Given the description of an element on the screen output the (x, y) to click on. 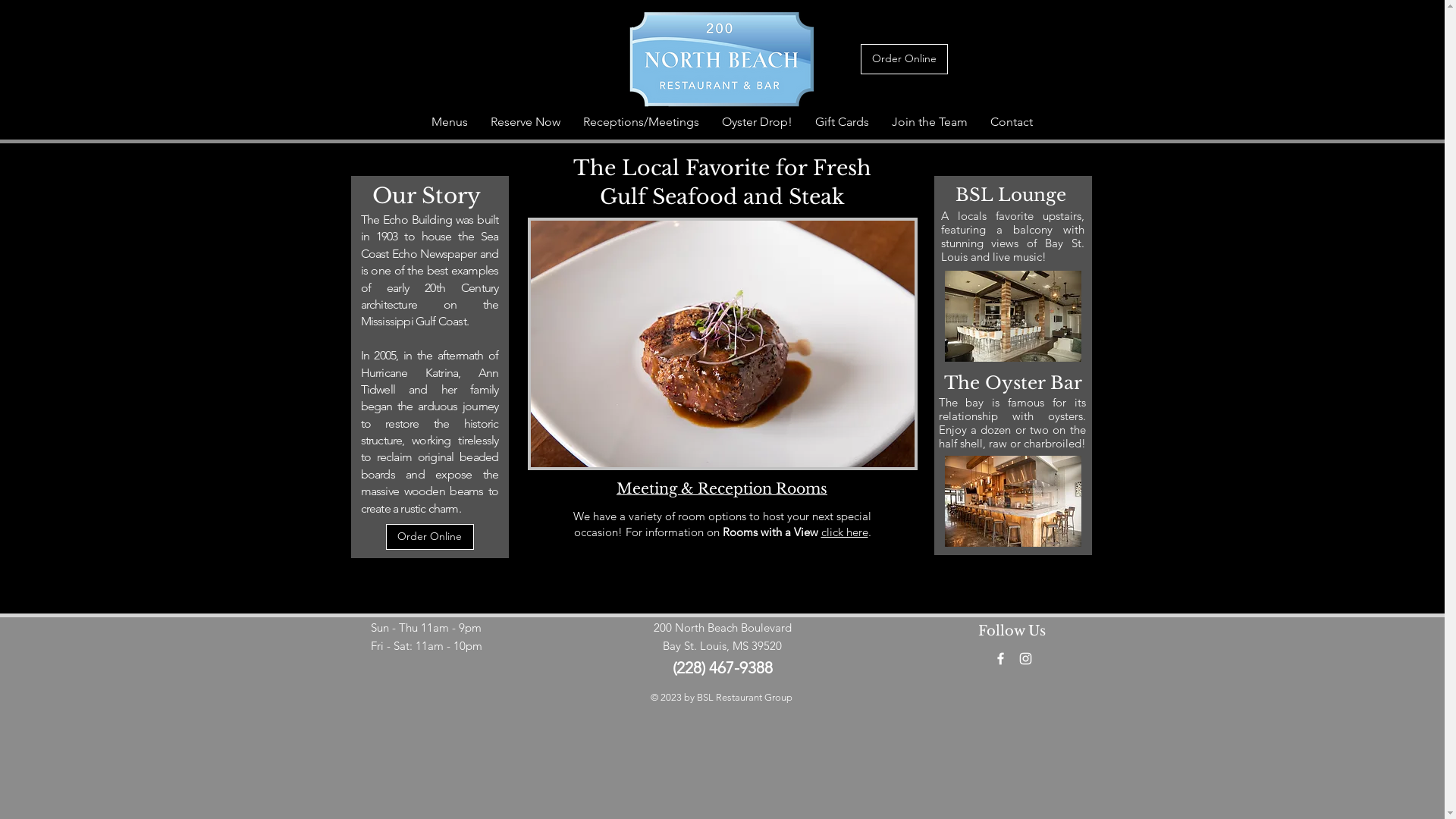
Contact Element type: text (1010, 121)
Receptions/Meetings Element type: text (640, 121)
Reserve Now Element type: text (525, 121)
Menus Element type: text (449, 121)
click here Element type: text (843, 531)
Oyster Drop! Element type: text (756, 121)
Join the Team Element type: text (928, 121)
Order Online Element type: text (429, 536)
Gift Cards Element type: text (841, 121)
Meeting & Reception Rooms Element type: text (721, 488)
Order Online Element type: text (903, 58)
